Given the description of an element on the screen output the (x, y) to click on. 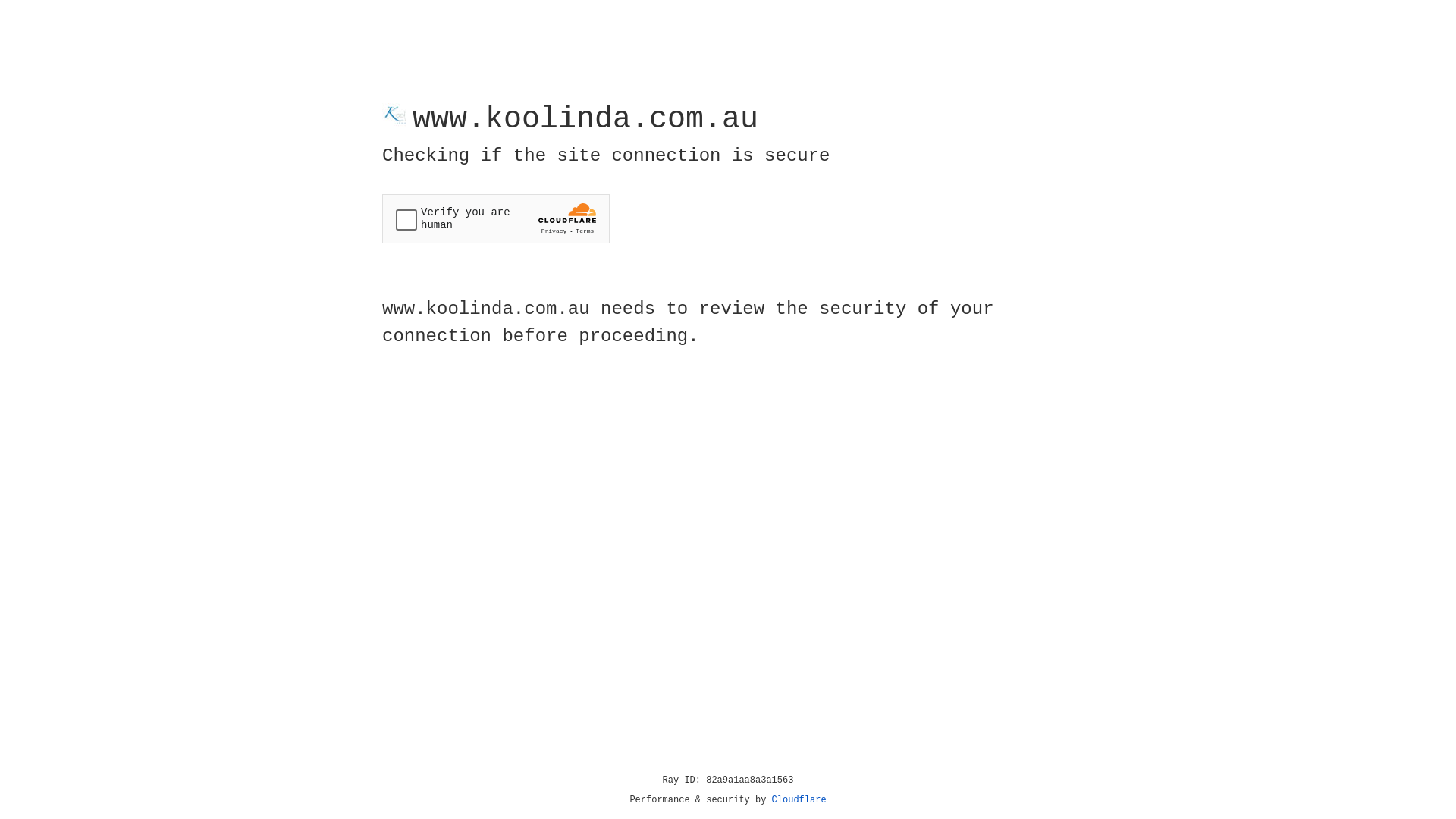
Widget containing a Cloudflare security challenge Element type: hover (495, 218)
Cloudflare Element type: text (798, 799)
